Given the description of an element on the screen output the (x, y) to click on. 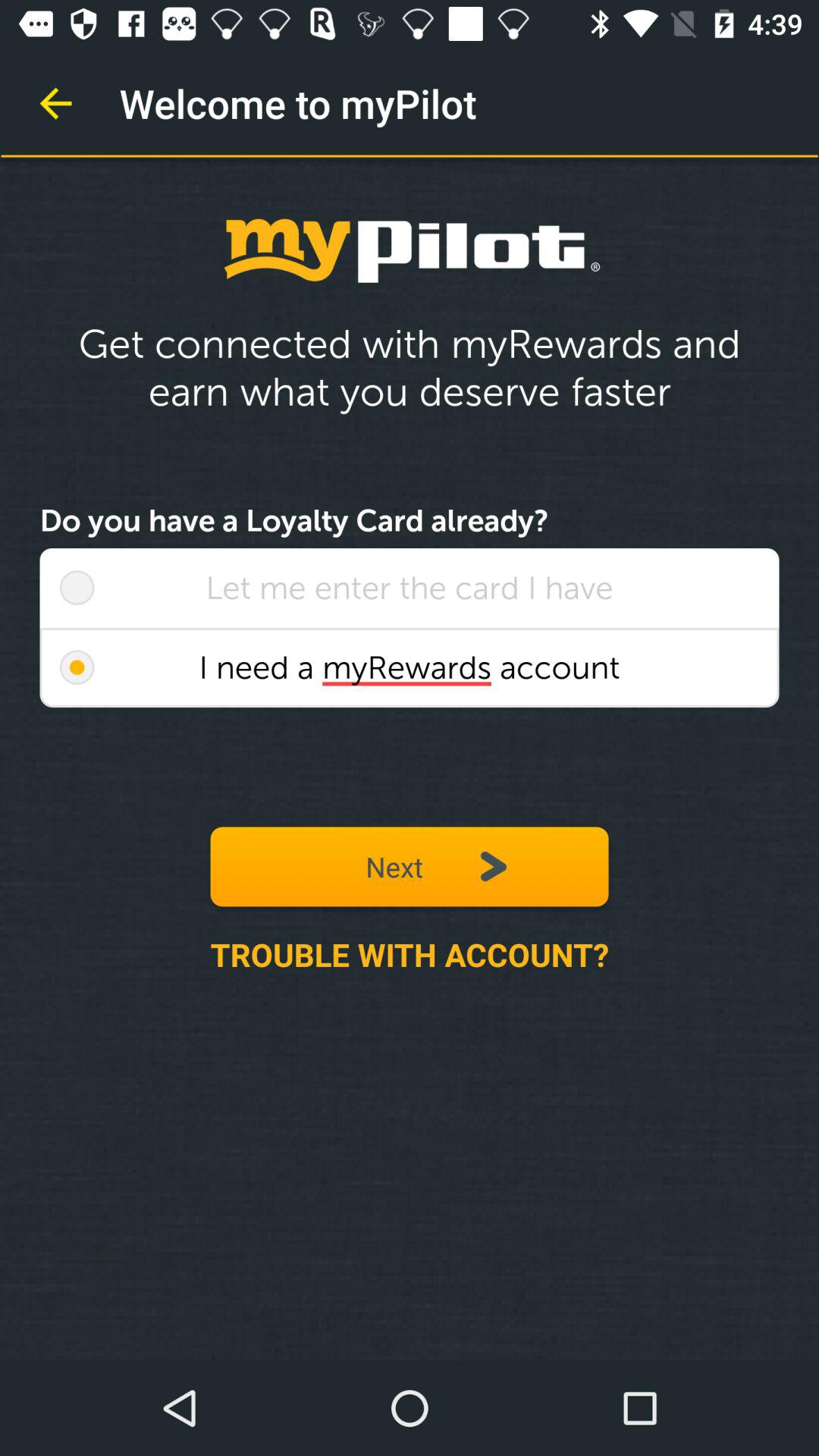
open the icon below the do you have icon (76, 587)
